Given the description of an element on the screen output the (x, y) to click on. 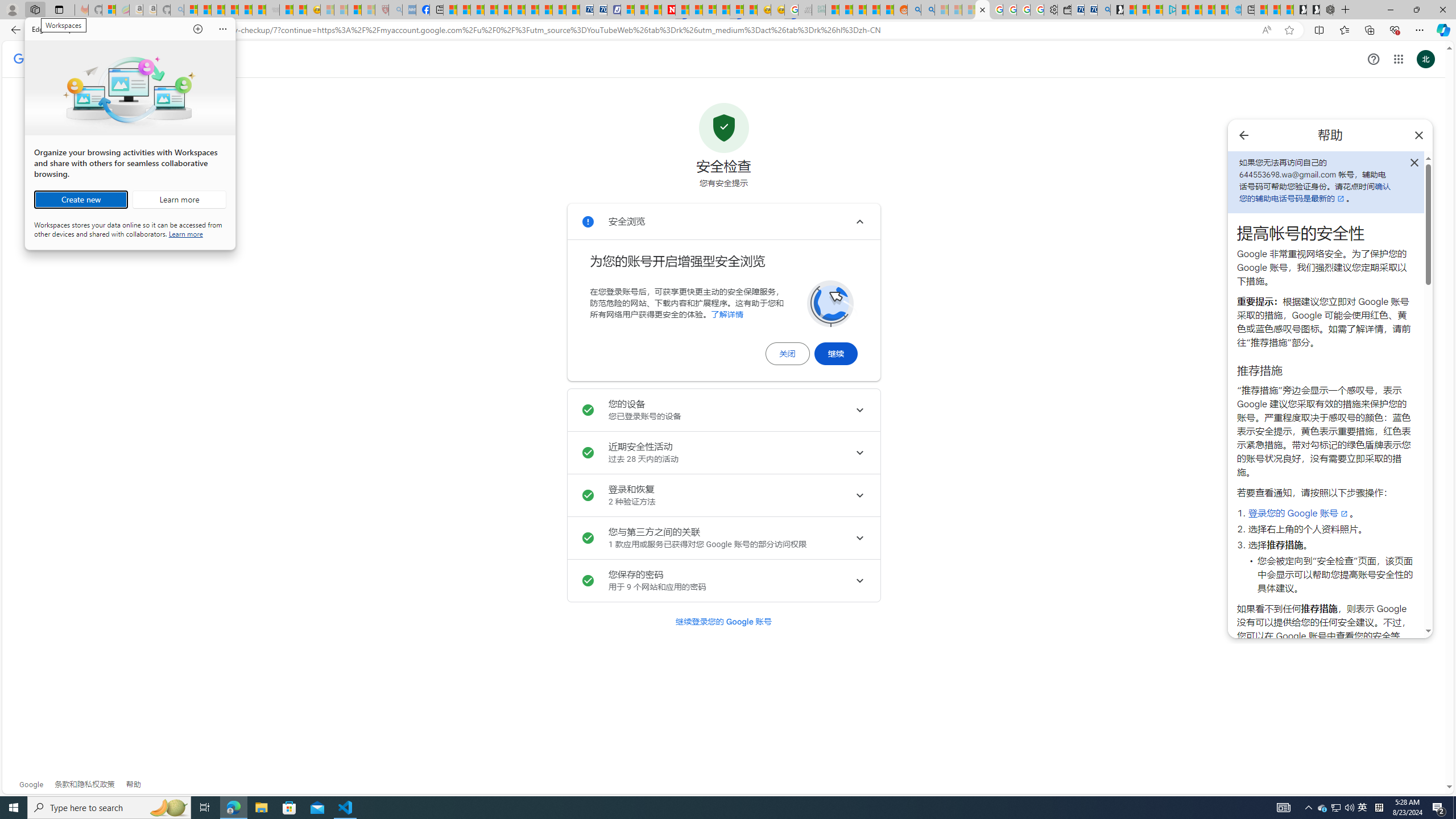
Notification Chevron (1308, 807)
Home | Sky Blue Bikes - Sky Blue Bikes (1234, 9)
Nordace - Nordace Siena Is Not An Ordinary Backpack (1326, 9)
User Promoted Notification Area (1336, 807)
Navy Quest (804, 9)
Cheap Hotels - Save70.com (599, 9)
